Given the description of an element on the screen output the (x, y) to click on. 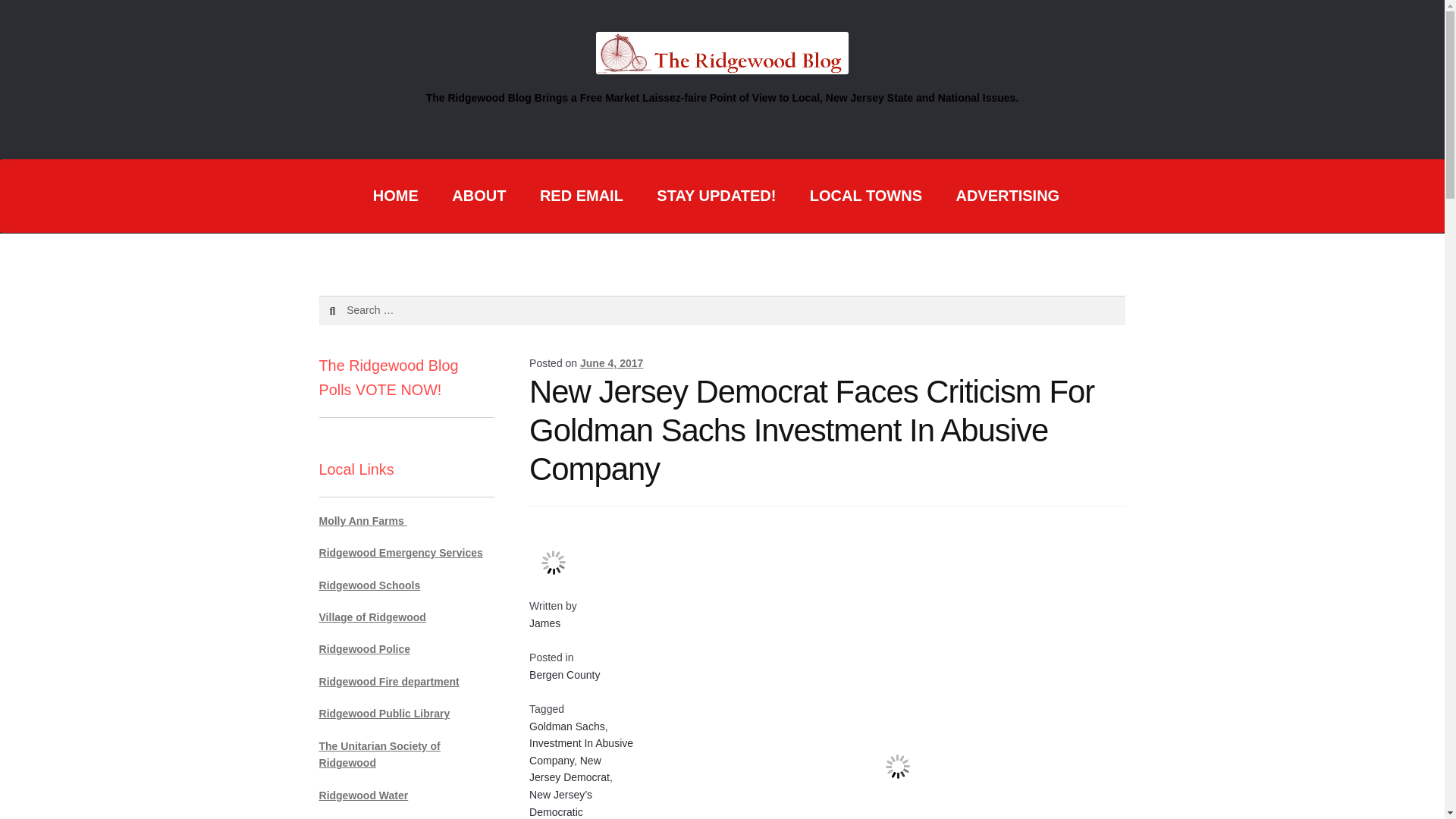
RED EMAIL (581, 195)
New Jersey Democrat (569, 768)
James (544, 623)
LOCAL TOWNS (865, 195)
Goldman Sachs (567, 726)
Investment In Abusive Company (581, 751)
ABOUT (478, 195)
Molly Ann Farms  (362, 521)
LOCAL NJ Towns News (865, 195)
Village of Ridgewood (372, 616)
Ridgewood Schools (369, 585)
Ridgewood Emergency Services (400, 552)
ADVERTISING (1007, 195)
